Given the description of an element on the screen output the (x, y) to click on. 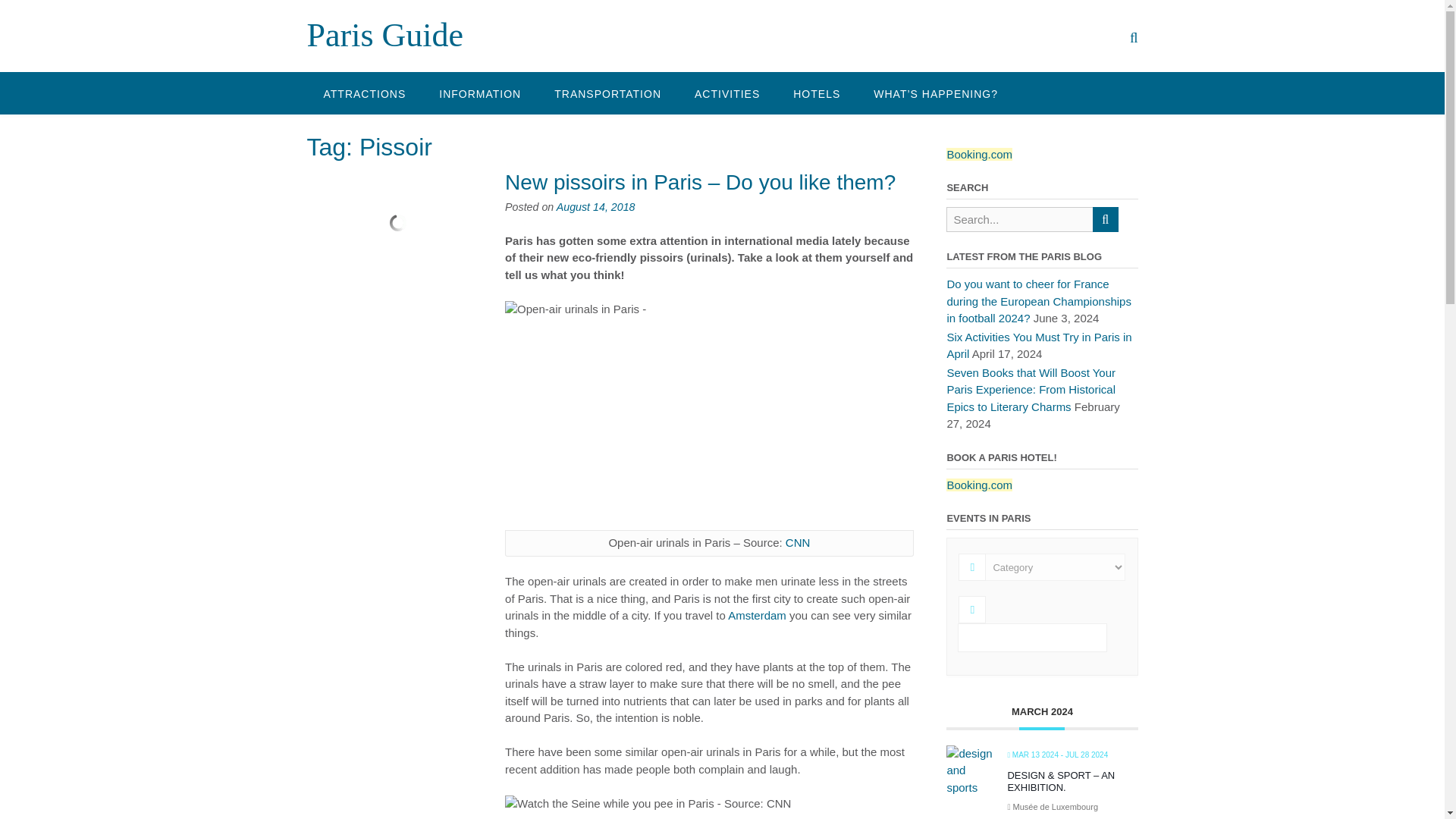
Paris Guide (384, 35)
Paris Guide (384, 35)
Search for: (1019, 219)
ATTRACTIONS (363, 92)
ACTIVITIES (727, 92)
TRANSPORTATION (607, 92)
INFORMATION (479, 92)
